Given the description of an element on the screen output the (x, y) to click on. 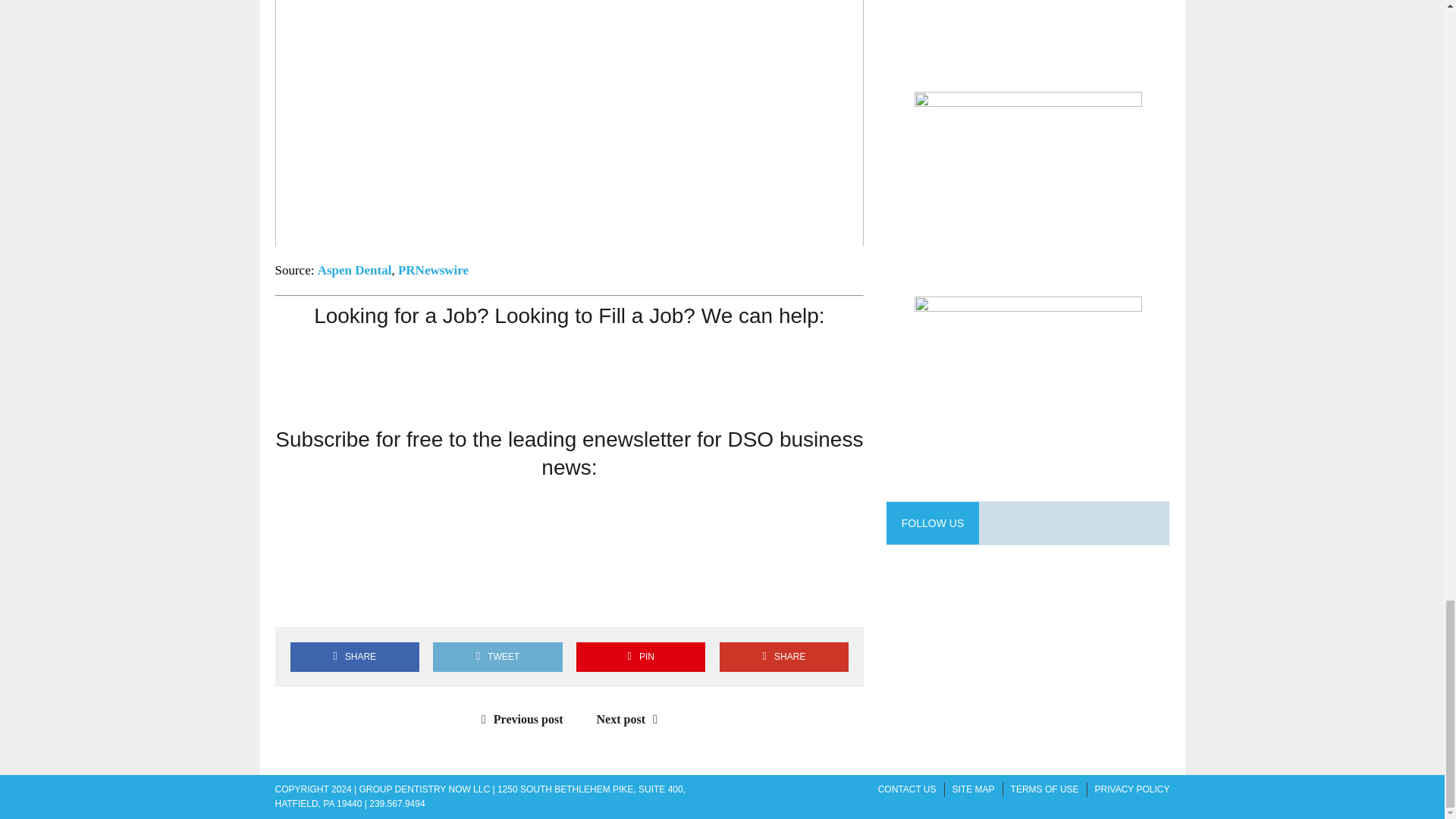
Share on Linkedin (380, 601)
Share on Twitter (336, 601)
Share on Facebook (293, 601)
Share by email (424, 601)
